Given the description of an element on the screen output the (x, y) to click on. 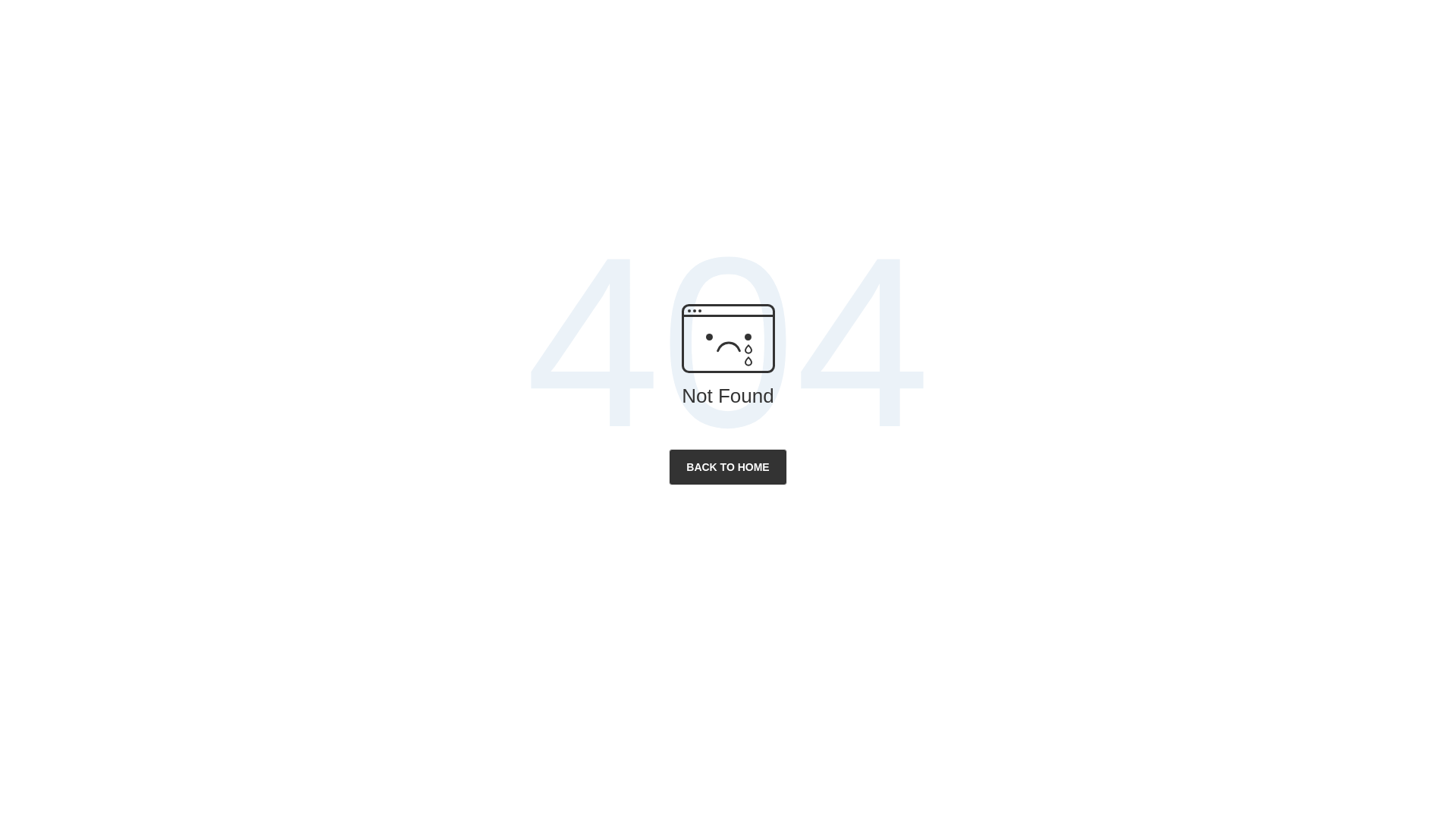
BACK TO HOME Element type: text (727, 466)
